Given the description of an element on the screen output the (x, y) to click on. 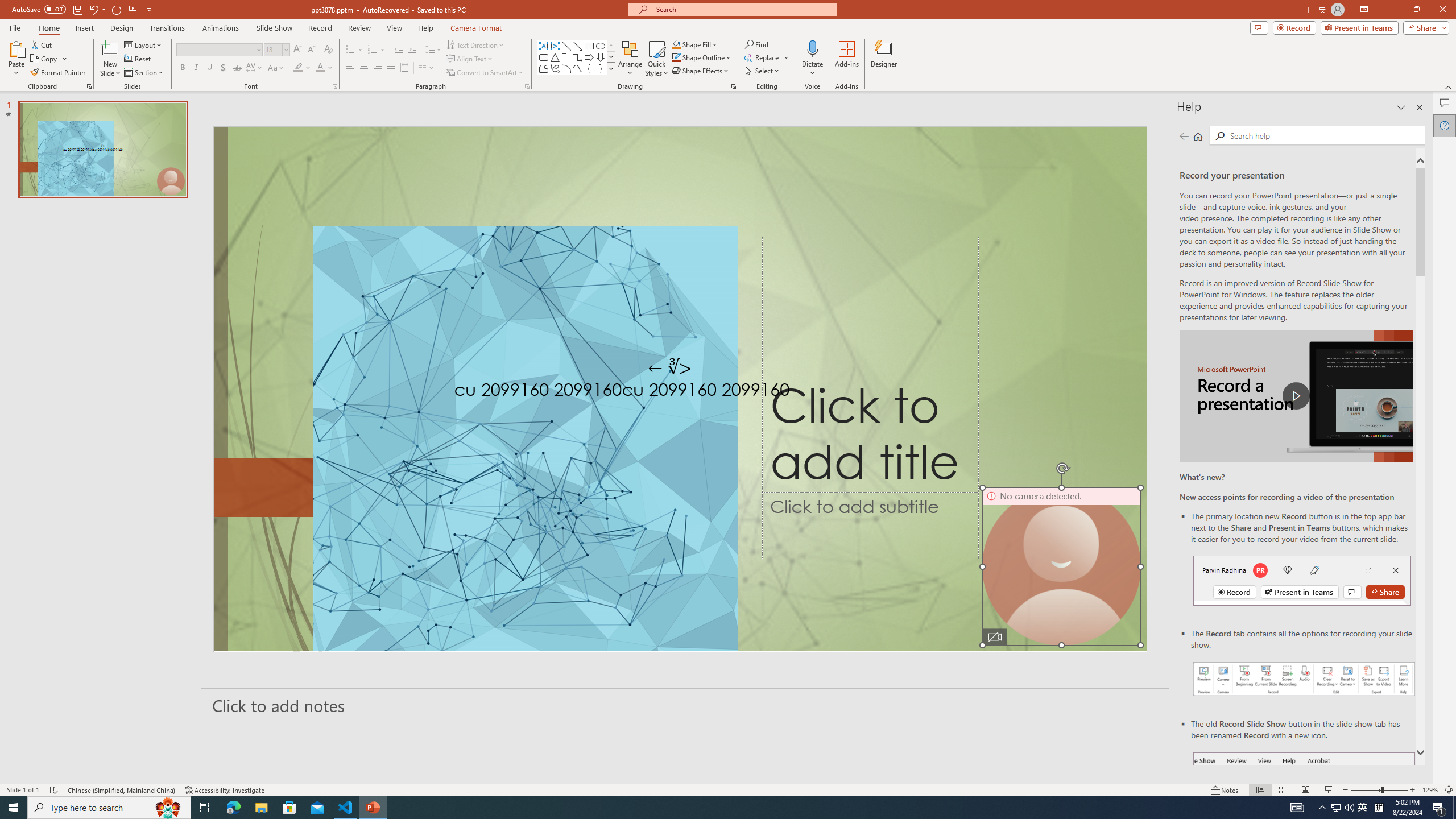
Previous page (1183, 136)
